Given the description of an element on the screen output the (x, y) to click on. 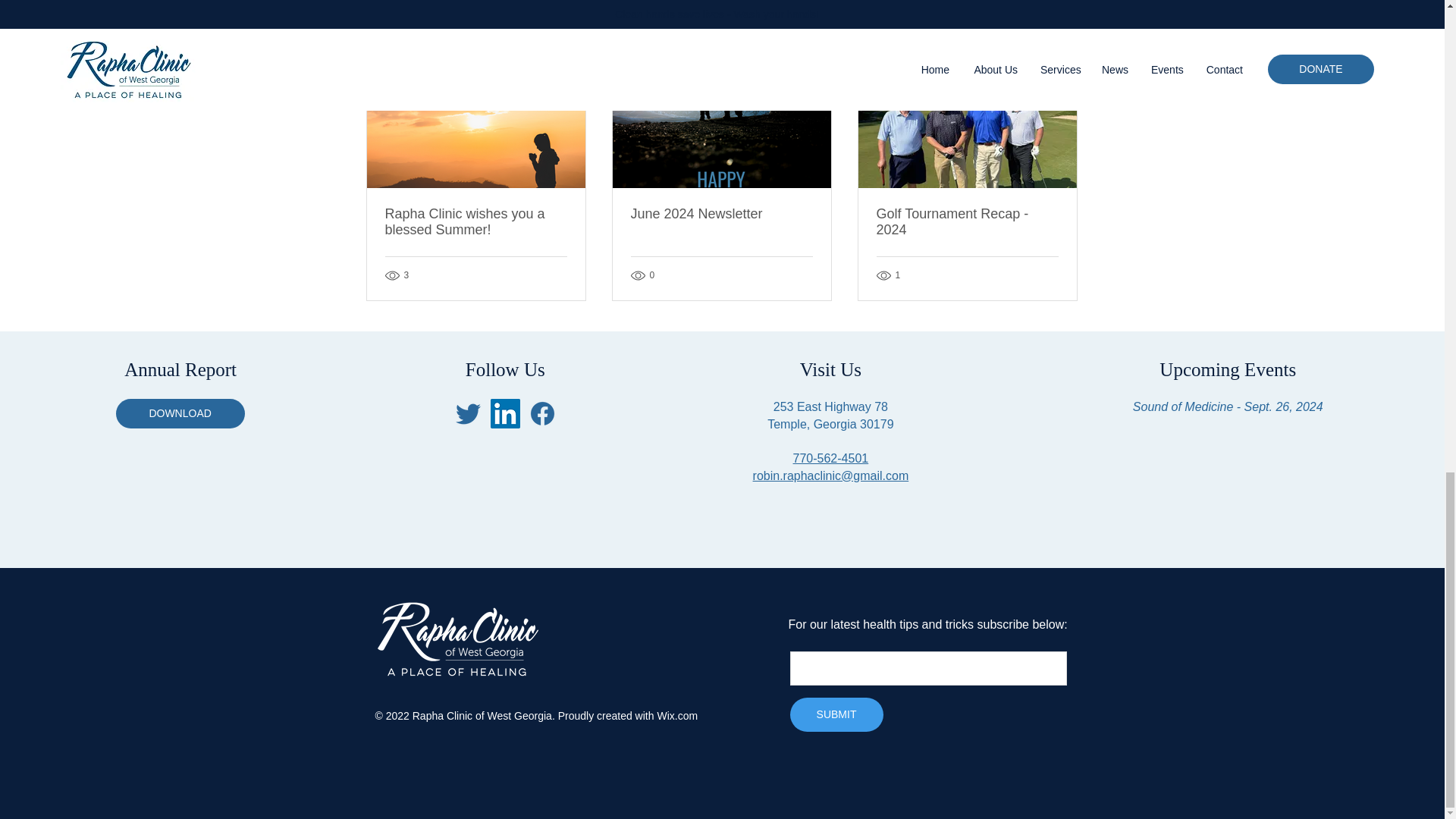
See All (1061, 38)
DOWNLOAD (180, 413)
June 2024 Newsletter (721, 213)
SUBMIT (836, 714)
Rapha Clinic wishes you a blessed Summer! (476, 222)
Golf Tournament Recap - 2024 (967, 222)
Wix.com (676, 715)
770-562-4501 (831, 458)
